Given the description of an element on the screen output the (x, y) to click on. 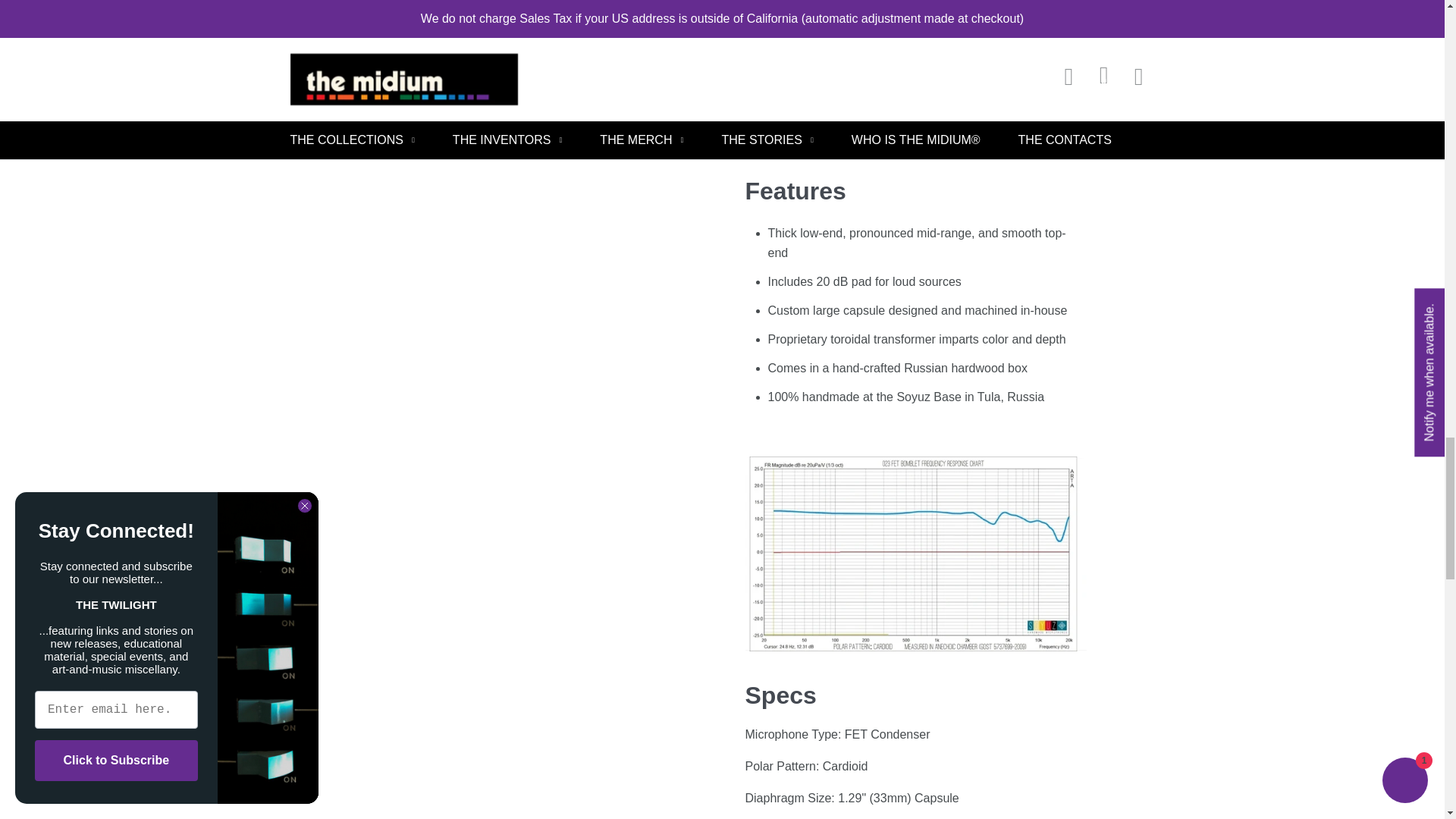
YouTube video player (915, 76)
